Given the description of an element on the screen output the (x, y) to click on. 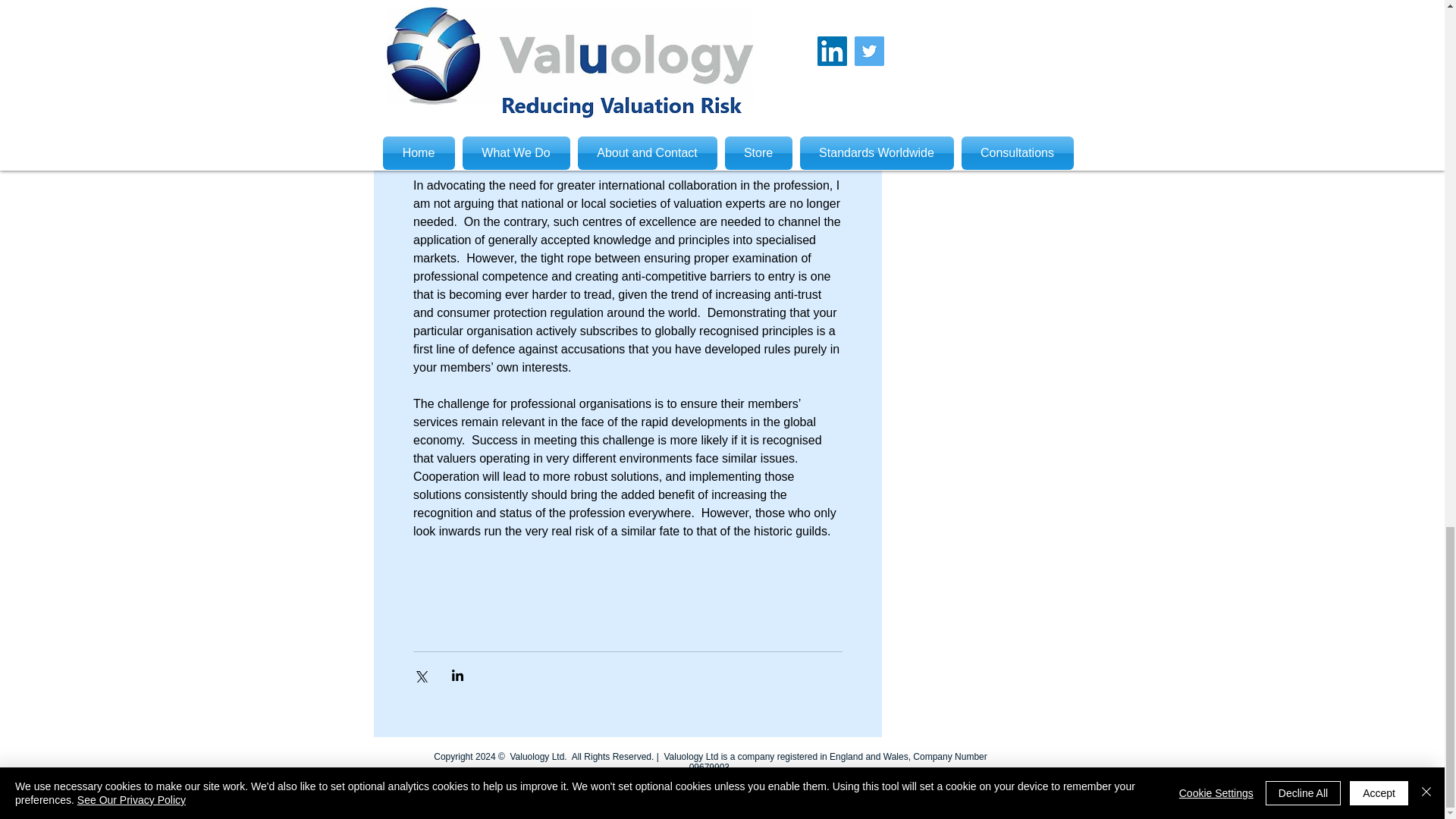
Acceptance of Cookies (809, 787)
Contact (726, 787)
Terms of Use (591, 787)
Privacy Notice (660, 787)
